Given the description of an element on the screen output the (x, y) to click on. 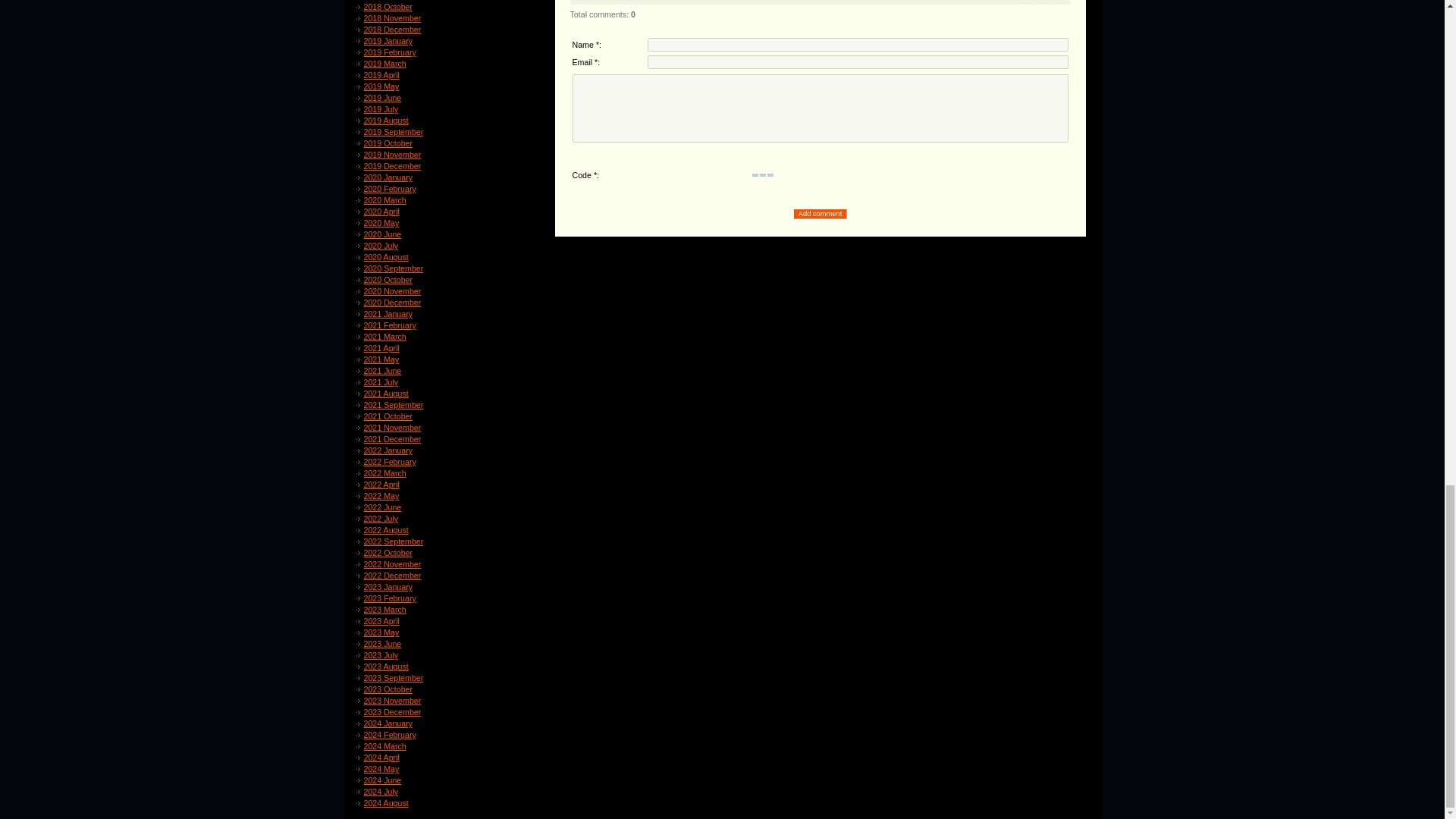
Add comment (820, 213)
